Given the description of an element on the screen output the (x, y) to click on. 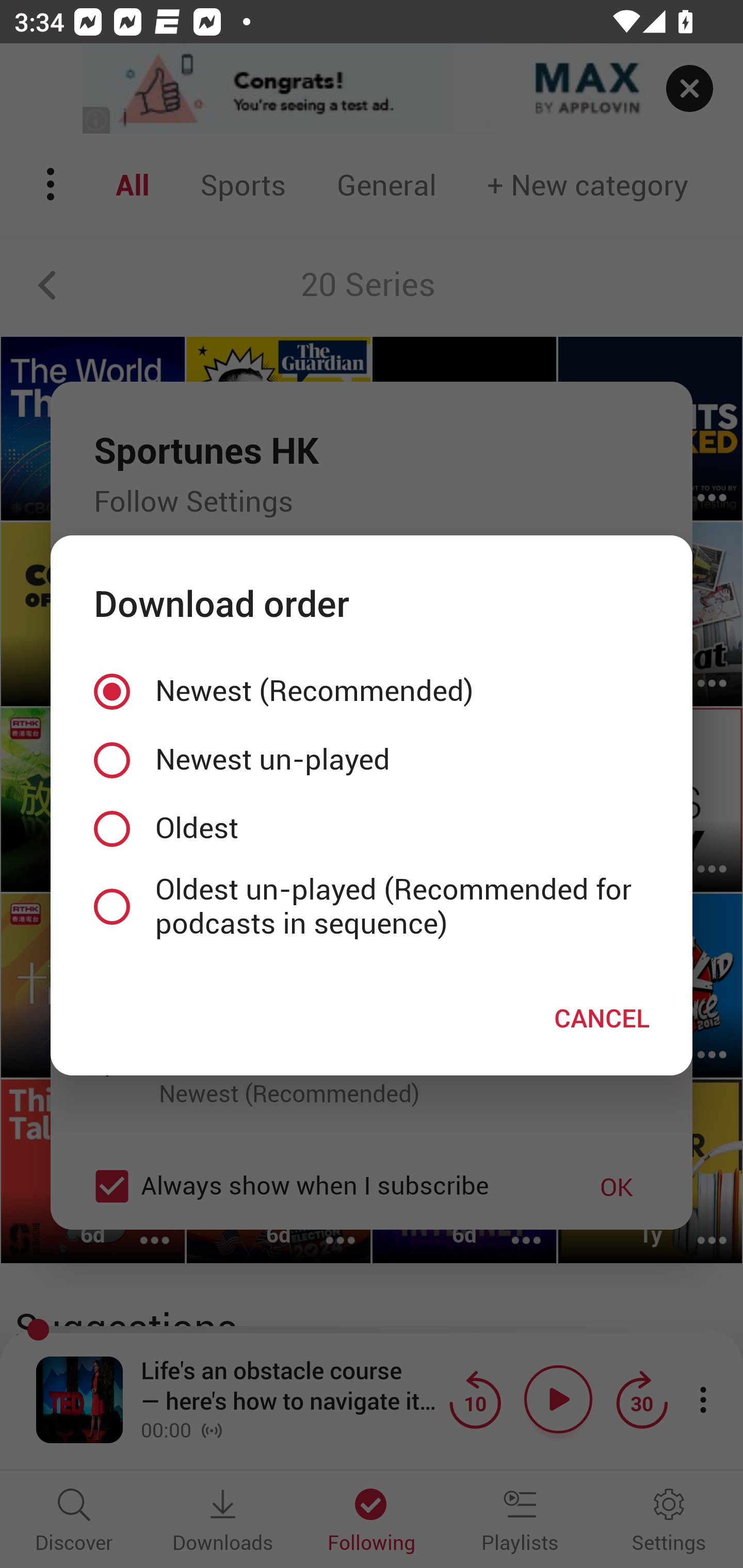
Newest (Recommended) (371, 692)
Newest un-played (371, 759)
Oldest (371, 828)
CANCEL (600, 1017)
